Given the description of an element on the screen output the (x, y) to click on. 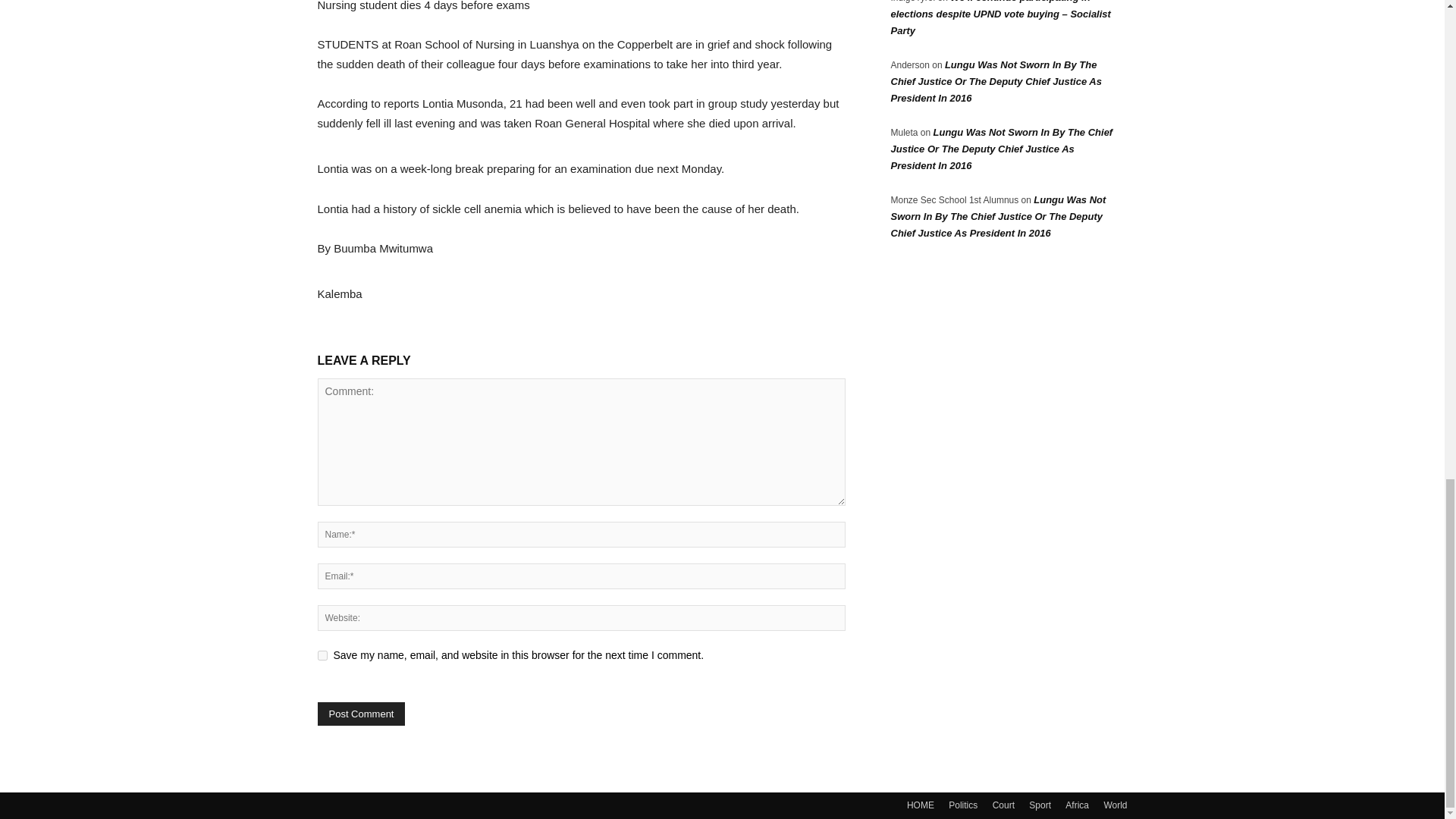
yes (321, 655)
Post Comment (360, 713)
